Given the description of an element on the screen output the (x, y) to click on. 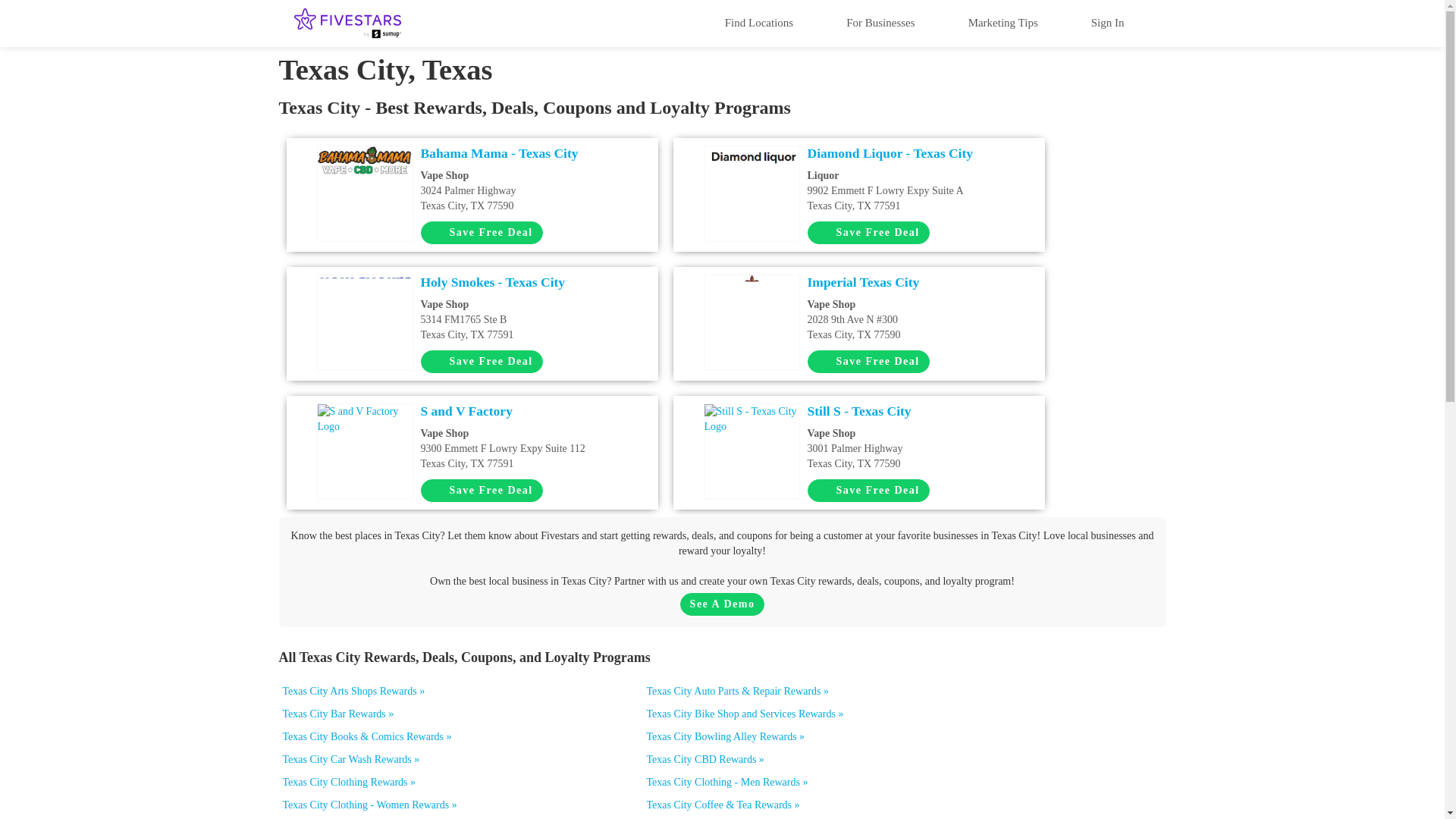
Diamond Liquor - Texas City (908, 152)
S and V Factory (522, 410)
Holy Smokes - Texas City Logo (364, 286)
Bahama Mama - Texas City (522, 152)
Find Locations (522, 189)
Marketing Tips and Blog (759, 22)
Save Free Deal (1002, 22)
S and V Factory Logo (867, 361)
Sign In (364, 419)
